Given the description of an element on the screen output the (x, y) to click on. 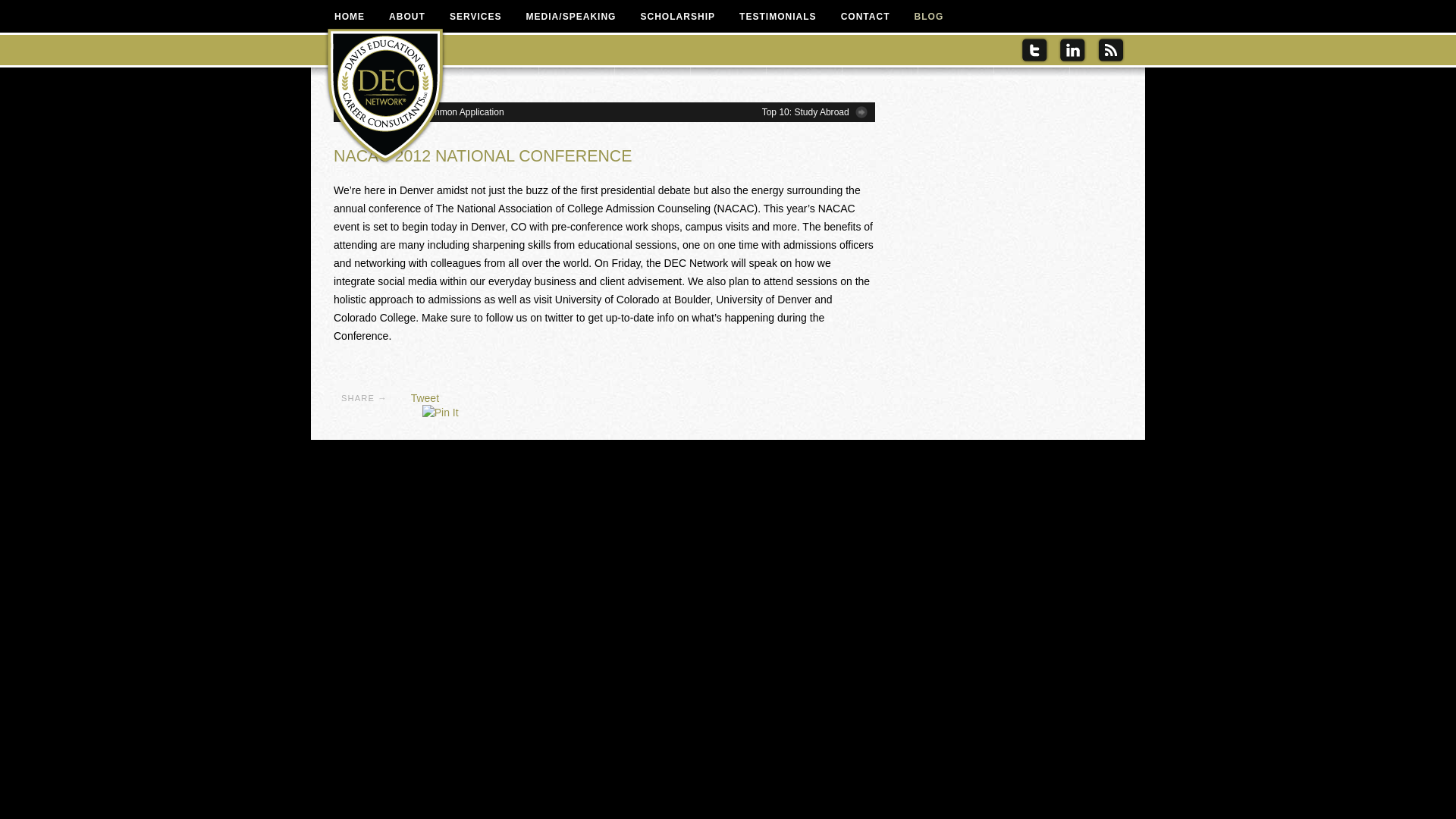
BLOG (929, 16)
Navigating the Common Application (421, 111)
Tweet (424, 398)
Pin It (440, 412)
SERVICES (475, 16)
Top 10: Study Abroad (814, 111)
CONTACT (865, 16)
HOME (349, 16)
SCHOLARSHIP (676, 16)
TESTIMONIALS (777, 16)
ABOUT (407, 16)
